Given the description of an element on the screen output the (x, y) to click on. 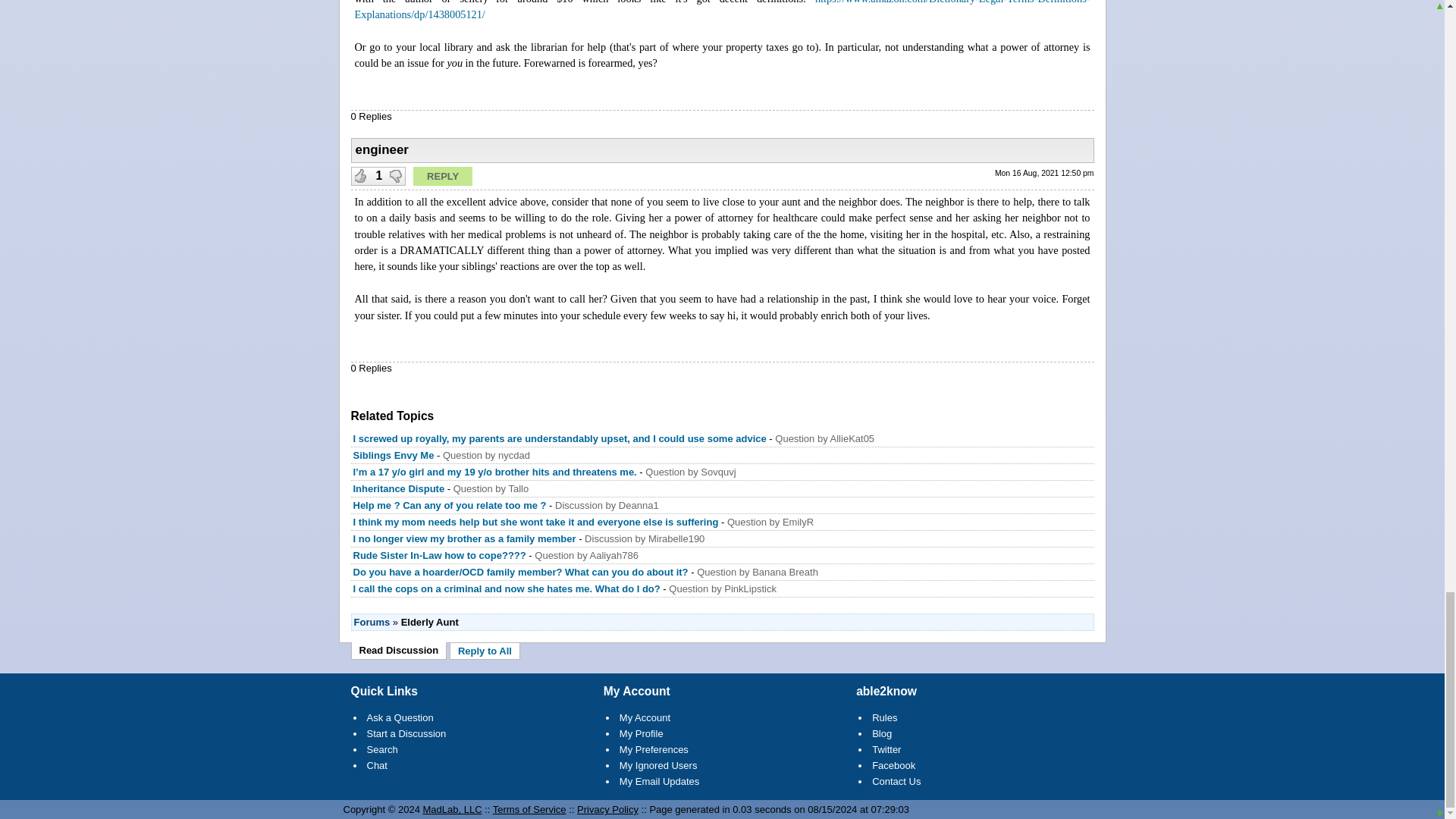
I no longer view my brother as a family member (464, 538)
Reply to All (484, 651)
Siblings Envy Me (393, 455)
Rude Sister In-Law how to cope???? (439, 555)
Inheritance Dispute (399, 488)
Help me ? Can any of you relate too me ? (451, 505)
Forums (371, 622)
